Given the description of an element on the screen output the (x, y) to click on. 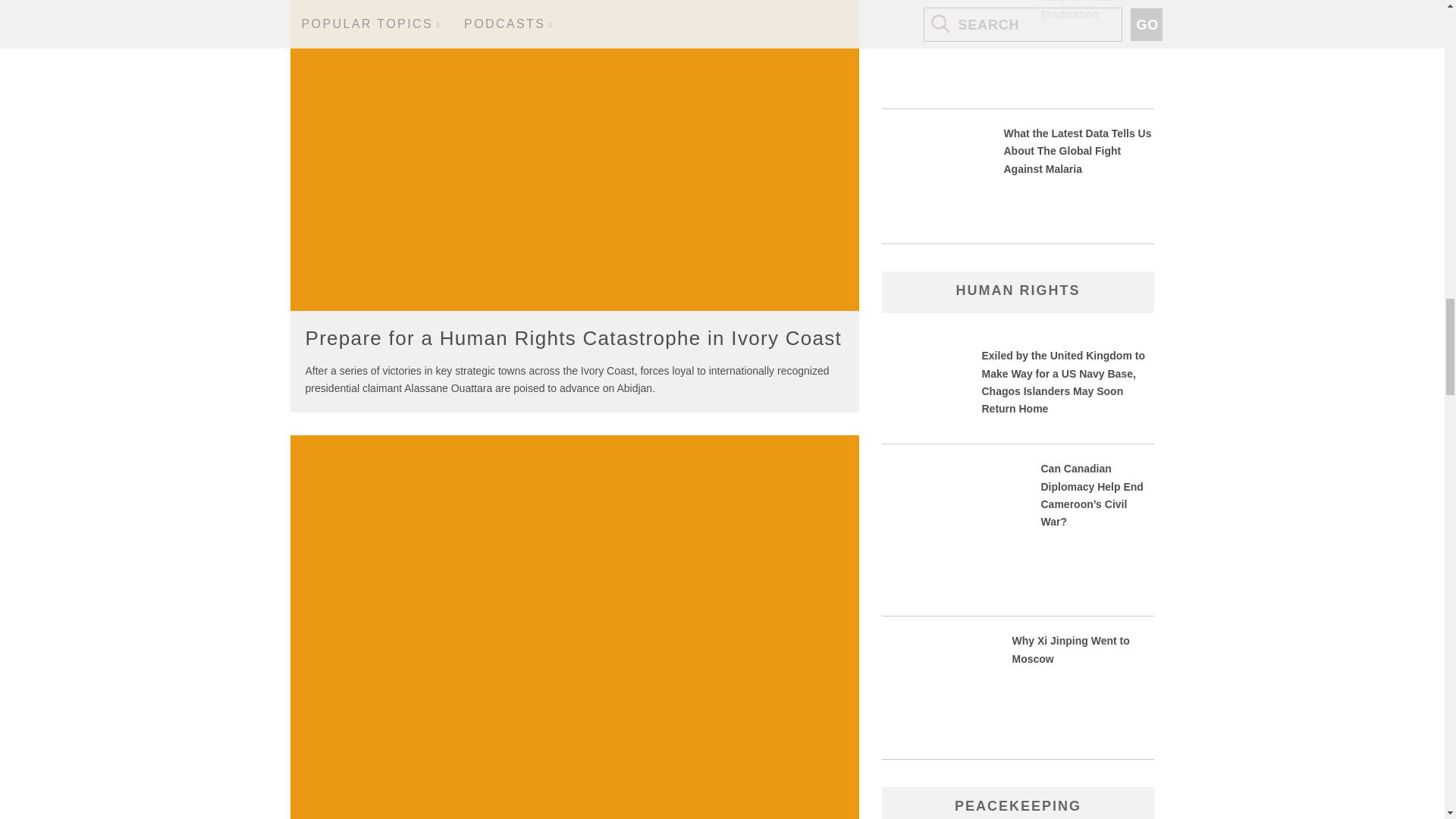
Prepare for a Human Rights Catastrophe in Ivory Coast (572, 337)
